Given the description of an element on the screen output the (x, y) to click on. 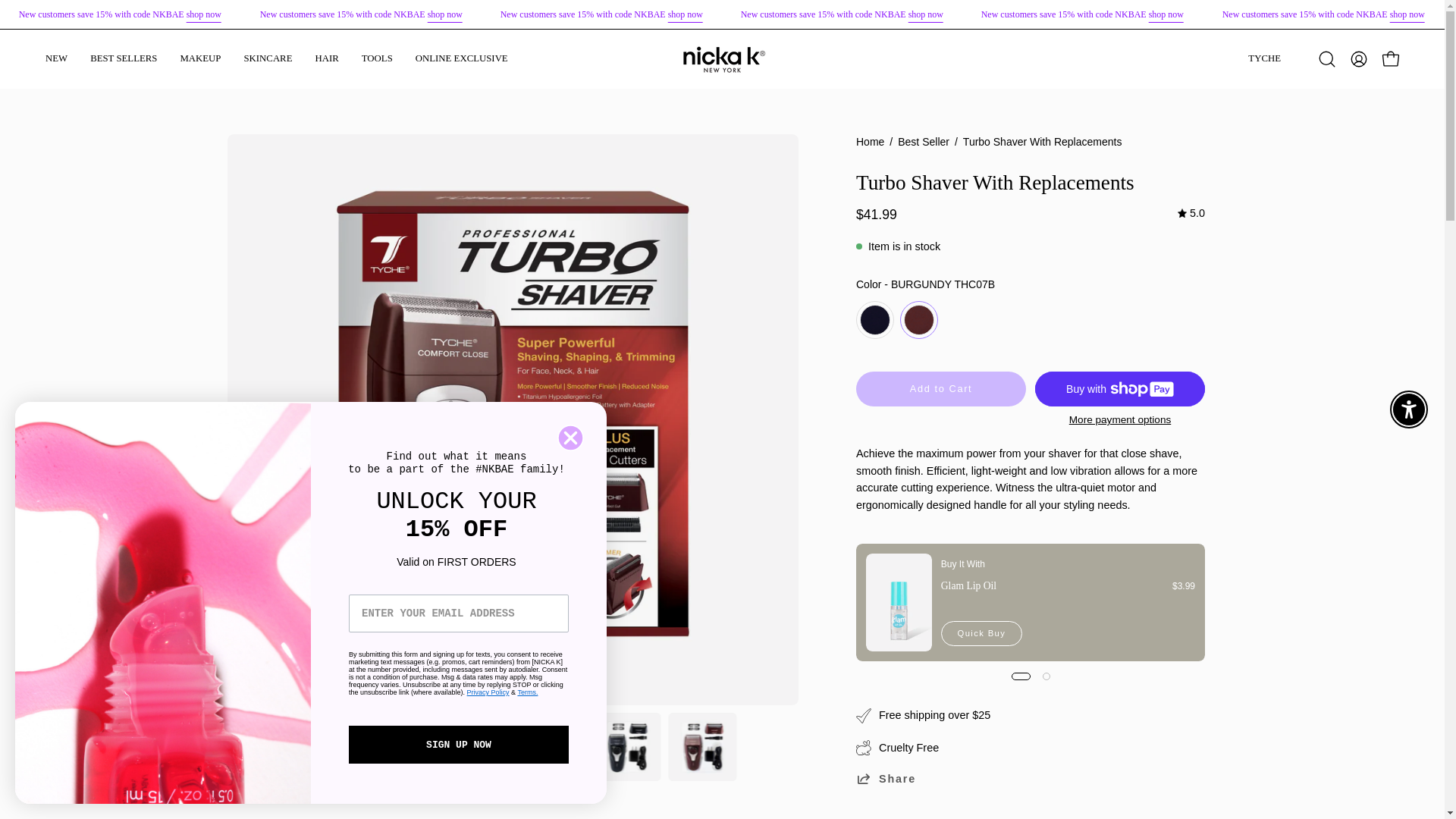
shop now (685, 14)
shop now (1406, 14)
shop now (203, 14)
Best Seller (685, 14)
Best Seller (203, 14)
Best Seller (443, 14)
shop now (443, 14)
shop now (1165, 14)
Open search bar (1326, 59)
Best Seller (925, 14)
shop now (925, 14)
Best Seller (1165, 14)
Best Seller (1406, 14)
Go back to Home page (869, 142)
